Given the description of an element on the screen output the (x, y) to click on. 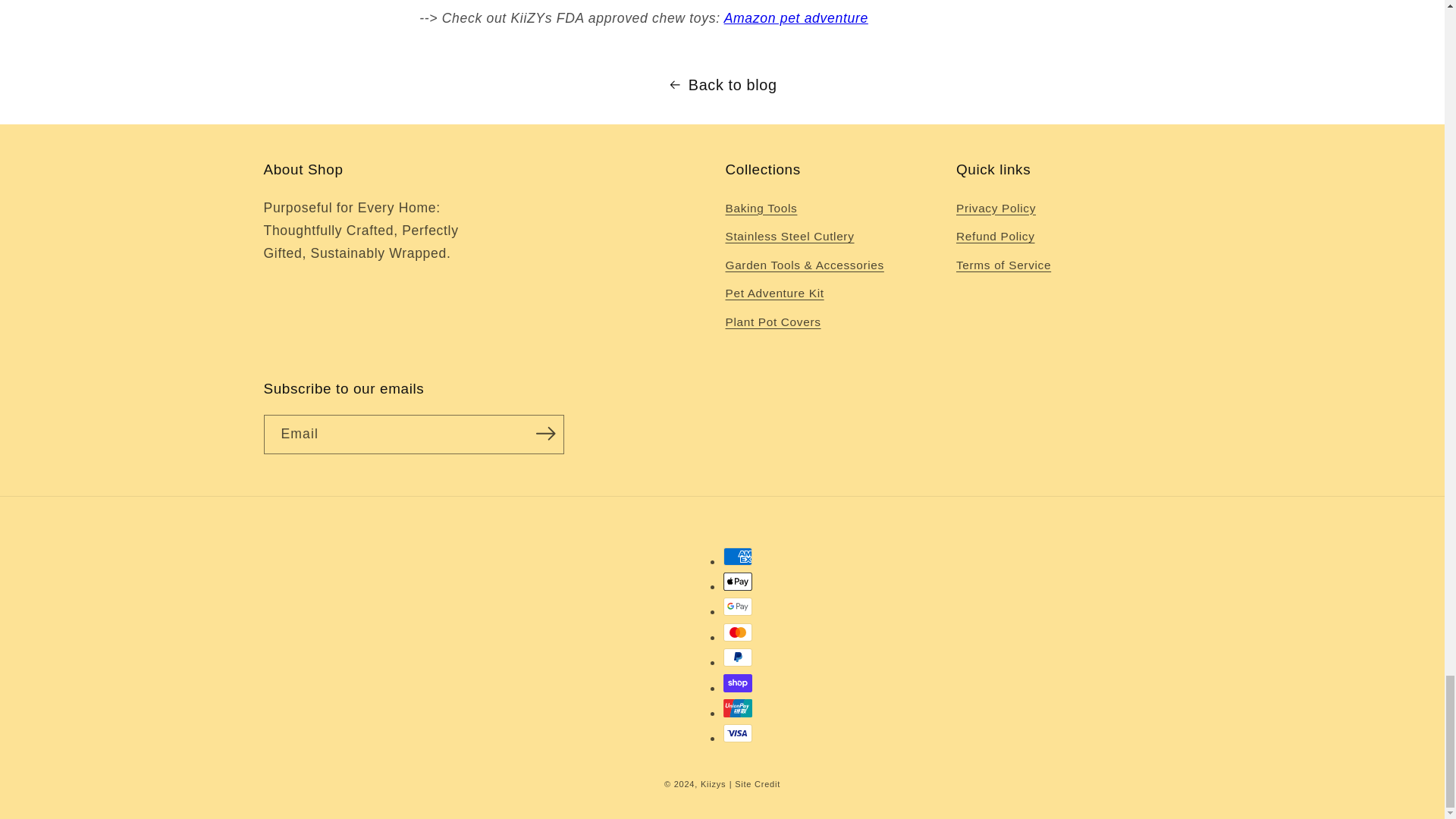
Visa (737, 732)
American Express (737, 556)
PayPal (737, 657)
Shop Pay (737, 683)
Mastercard (737, 632)
Dental chew toys (795, 17)
Union Pay (737, 708)
Apple Pay (737, 581)
Google Pay (737, 606)
